Given the description of an element on the screen output the (x, y) to click on. 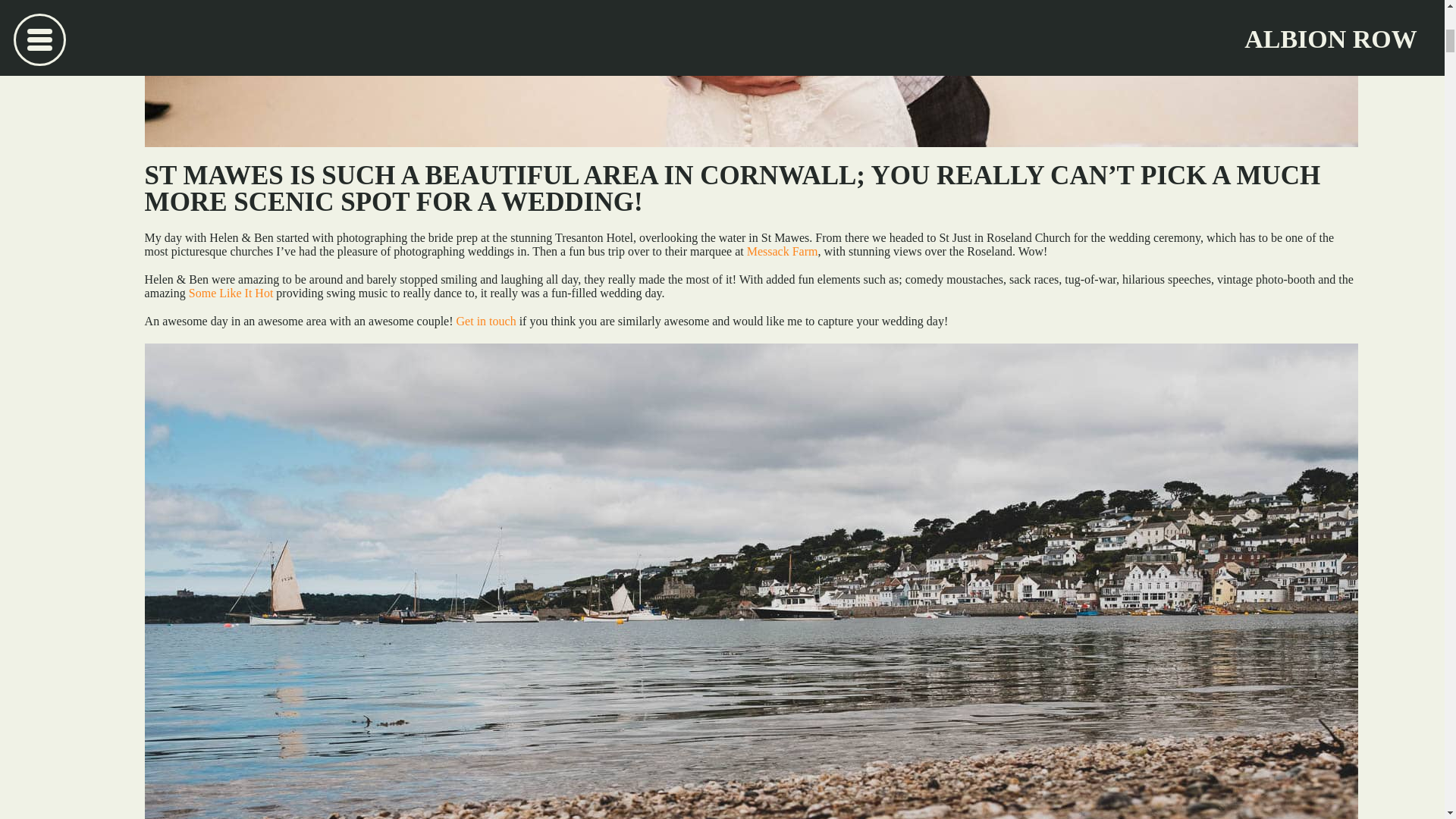
Some Like It Hot (231, 292)
Get in touch (486, 320)
Messack Farm (782, 250)
